Given the description of an element on the screen output the (x, y) to click on. 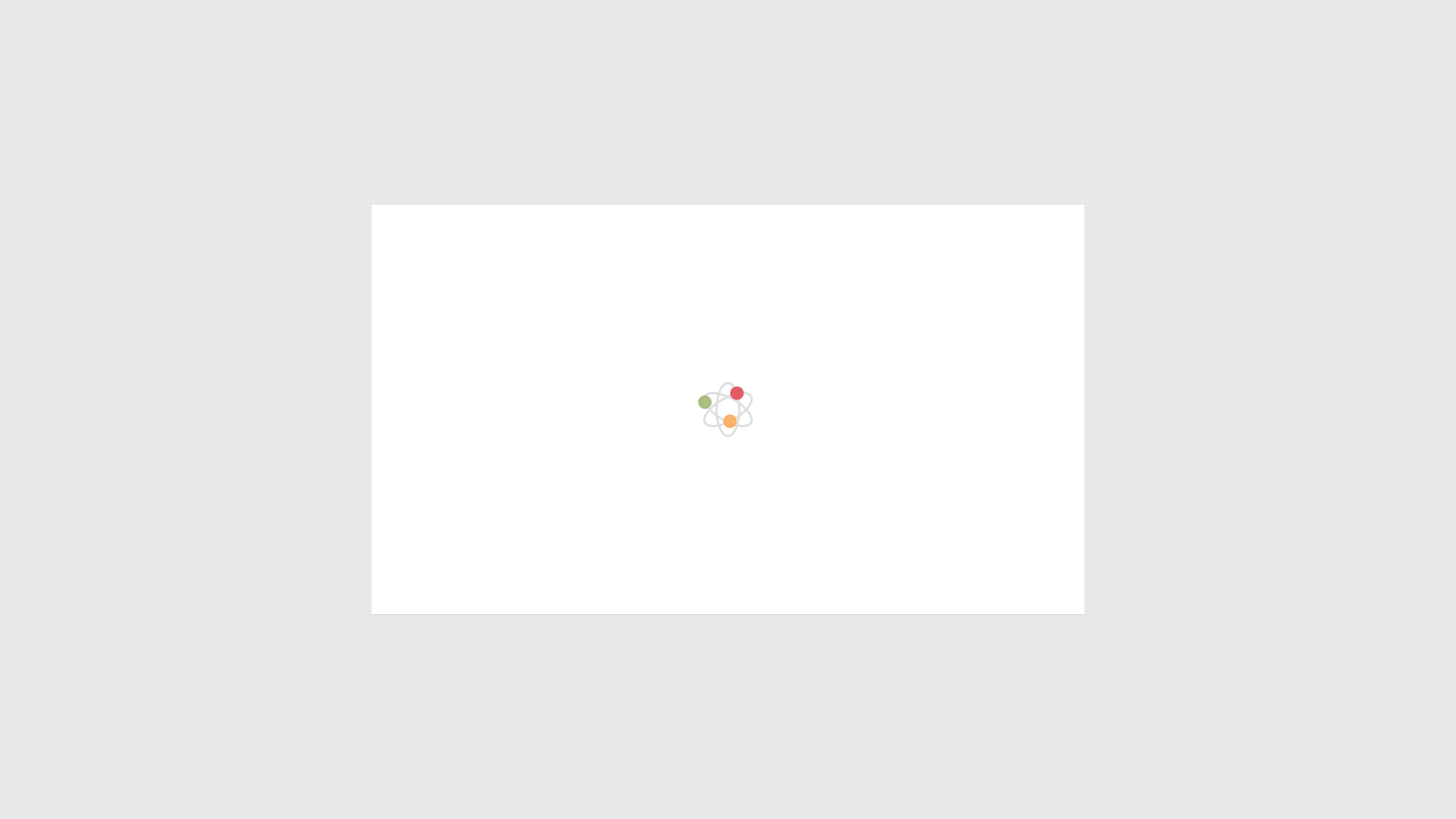
contact us Element type: text (893, 296)
